Given the description of an element on the screen output the (x, y) to click on. 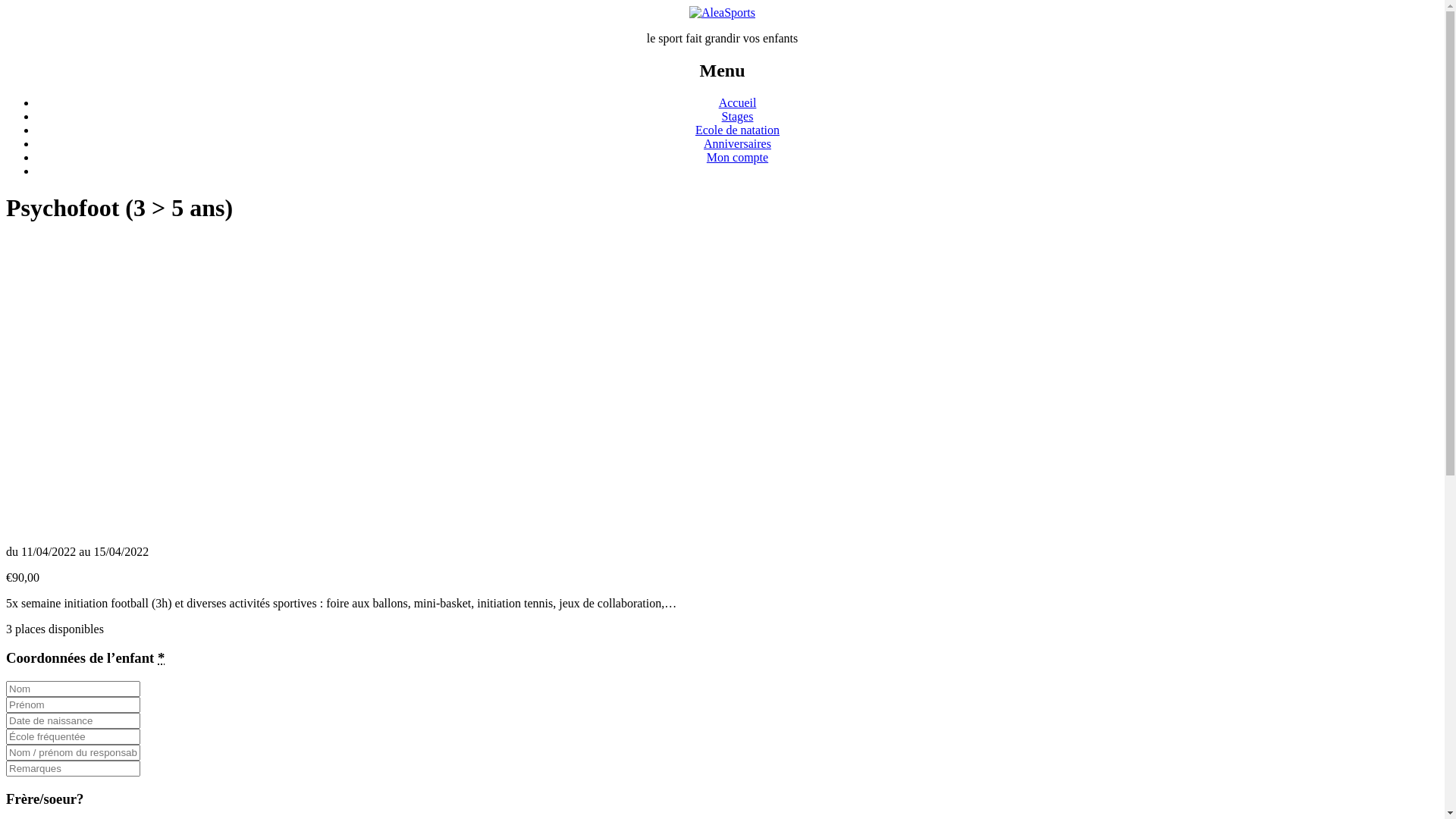
Ecole de natation Element type: text (737, 129)
Mon compte Element type: text (737, 156)
Stages Element type: text (737, 115)
Accueil Element type: text (737, 102)
Anniversaires Element type: text (737, 143)
